Given the description of an element on the screen output the (x, y) to click on. 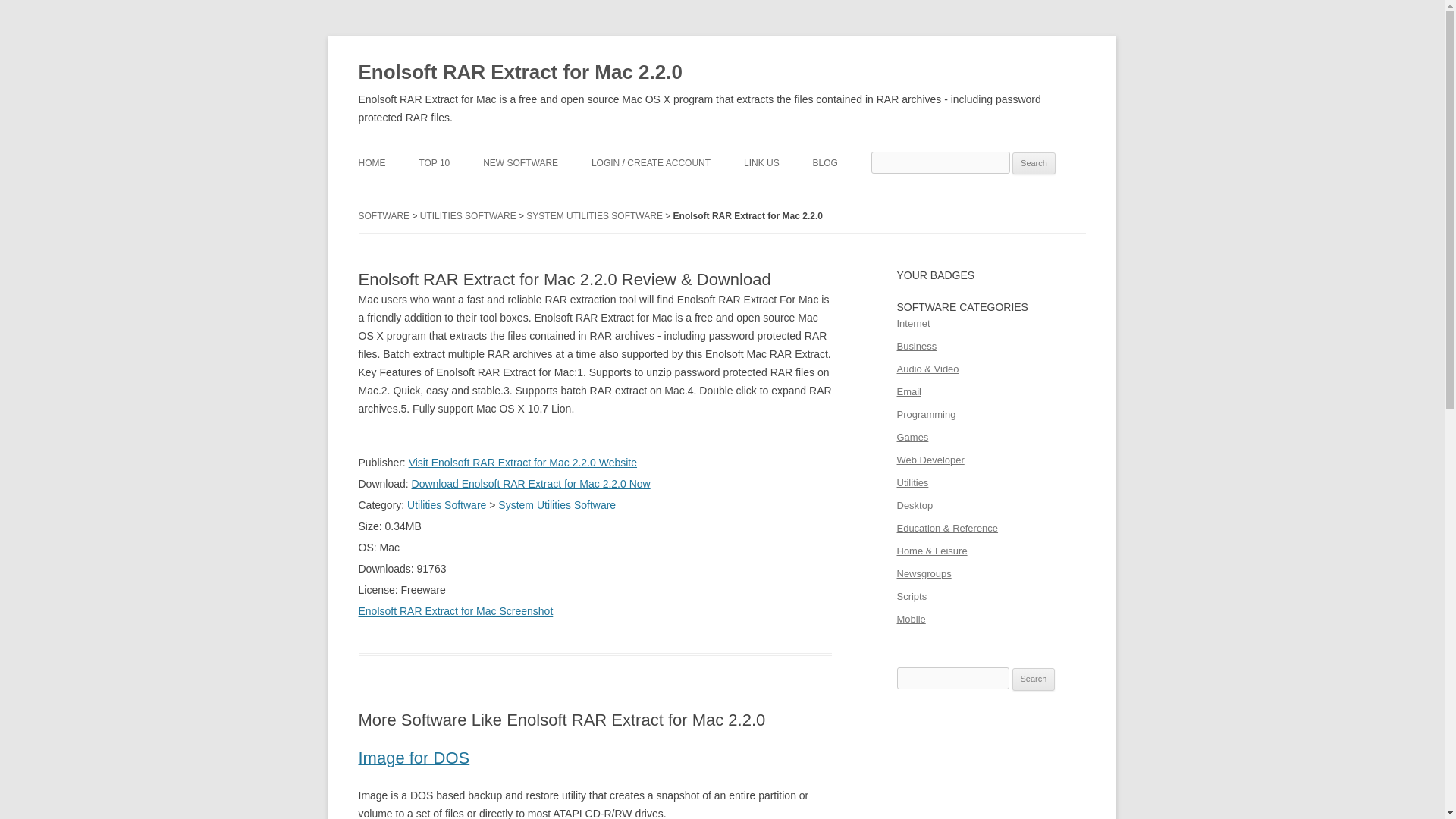
BLOG (825, 162)
NEW SOFTWARE (520, 162)
CREATE ACCOUNT (668, 162)
Search (1033, 679)
Utilities (912, 482)
SOFTWARE (383, 215)
Email (908, 391)
Programming (925, 414)
Web Developer (929, 460)
Search (1033, 163)
UTILITIES SOFTWARE (468, 215)
System Utilities Software (556, 504)
Desktop (914, 505)
LINK US (761, 162)
SYSTEM UTILITIES SOFTWARE (593, 215)
